Given the description of an element on the screen output the (x, y) to click on. 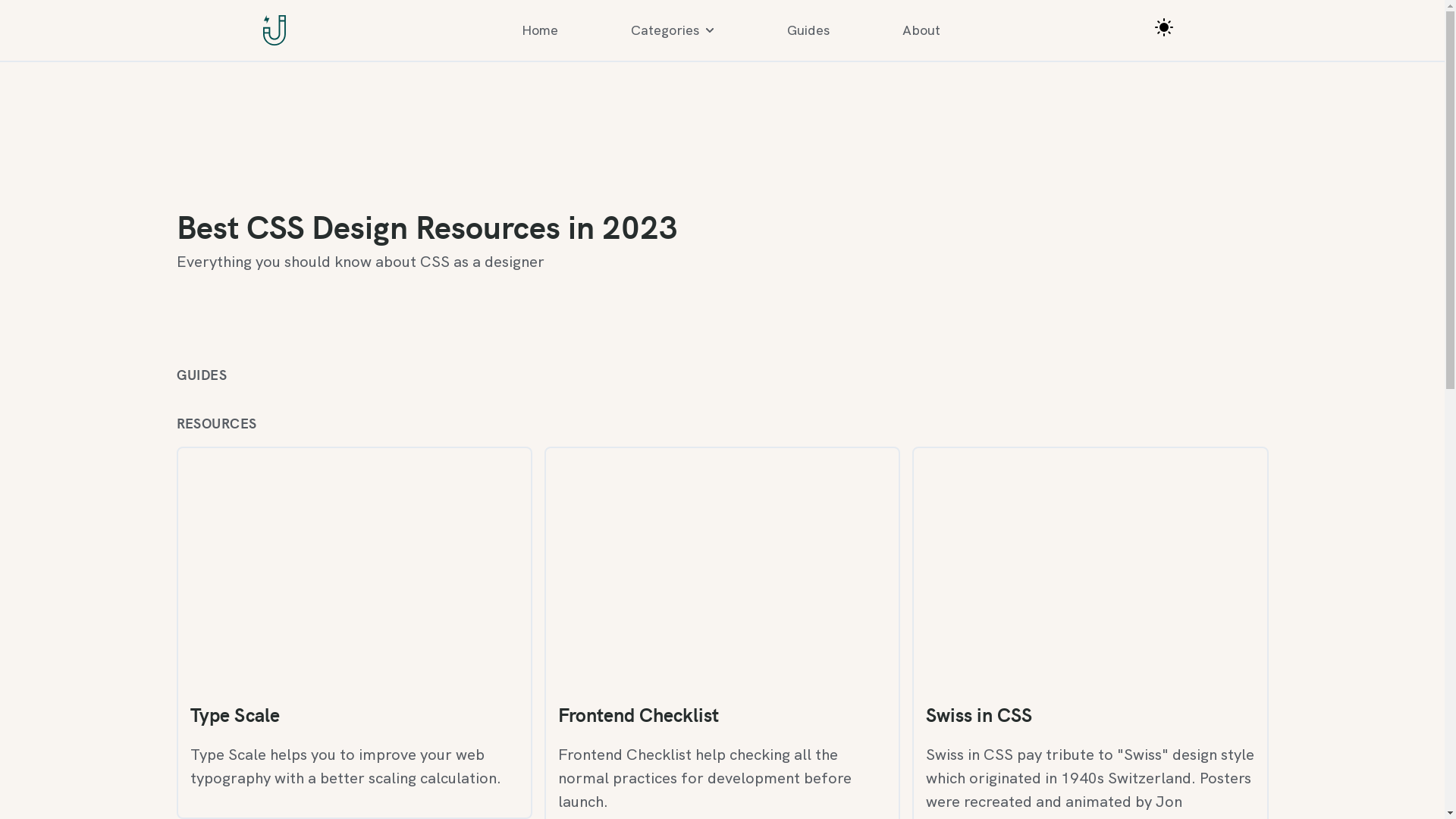
Home Element type: text (539, 30)
Categories Element type: text (672, 30)
Activate dark mode Element type: hover (1163, 27)
About Element type: text (921, 30)
Guides Element type: text (808, 30)
